Given the description of an element on the screen output the (x, y) to click on. 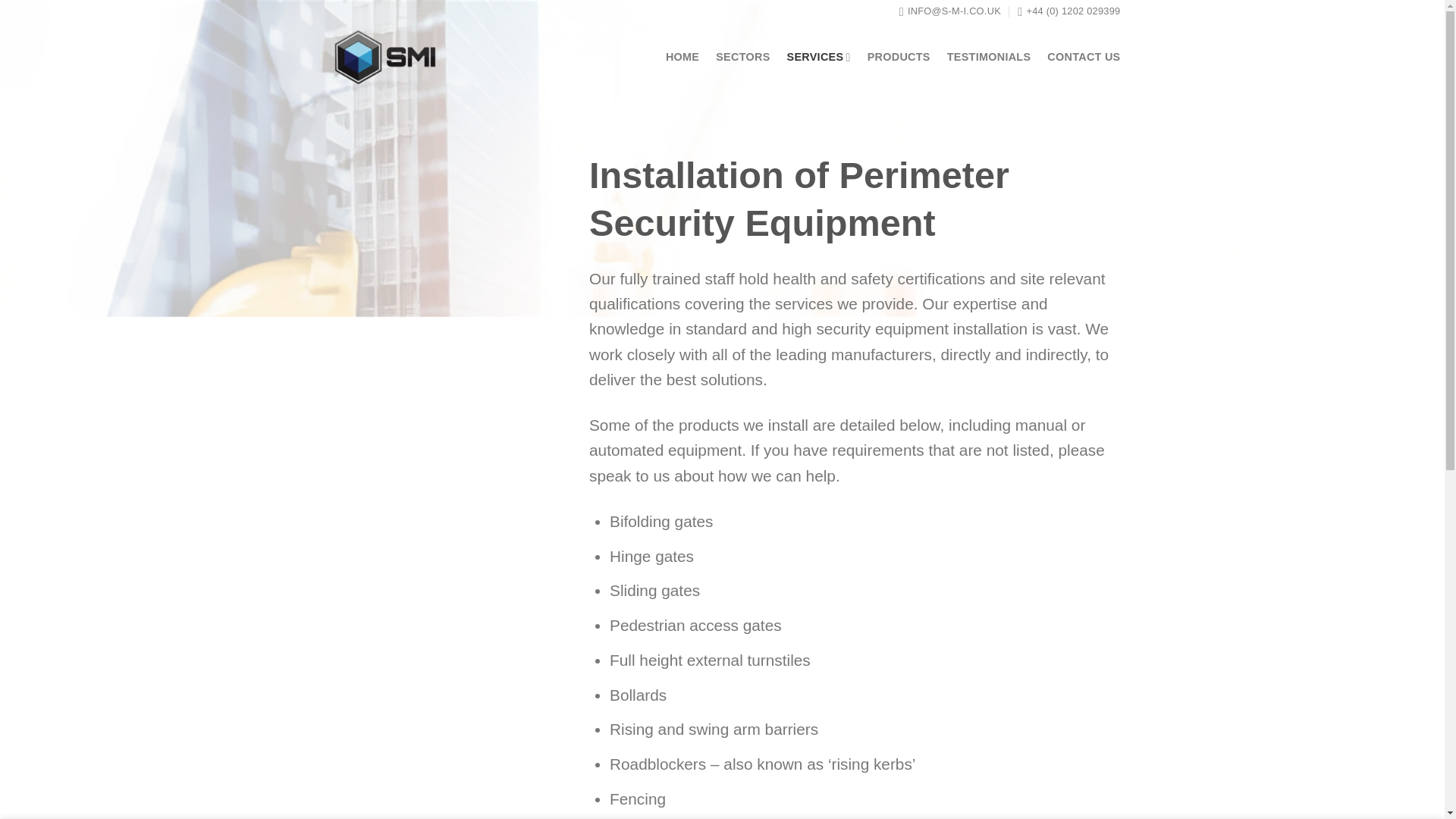
SECTORS (743, 56)
PRODUCTS (898, 56)
SERVICES (818, 56)
TESTIMONIALS (988, 56)
CONTACT US (1082, 56)
SMI - Security management Installations (400, 56)
HOME (681, 56)
